Given the description of an element on the screen output the (x, y) to click on. 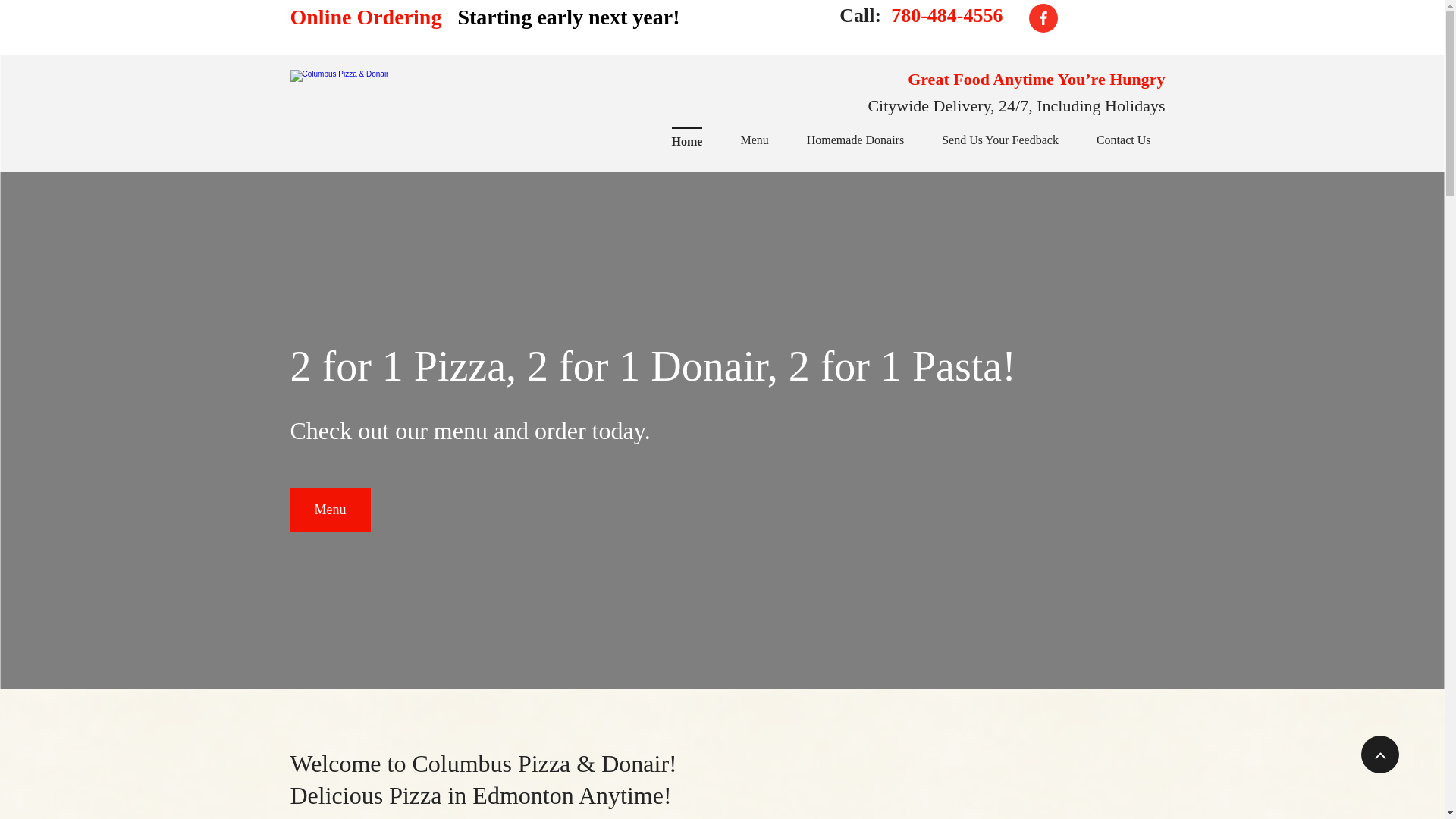
Home (687, 141)
Menu (753, 140)
Homemade Donairs (855, 140)
Send Us Your Feedback (1000, 140)
780-484-4556 (944, 15)
Menu (329, 509)
Contact Us (1123, 140)
